Given the description of an element on the screen output the (x, y) to click on. 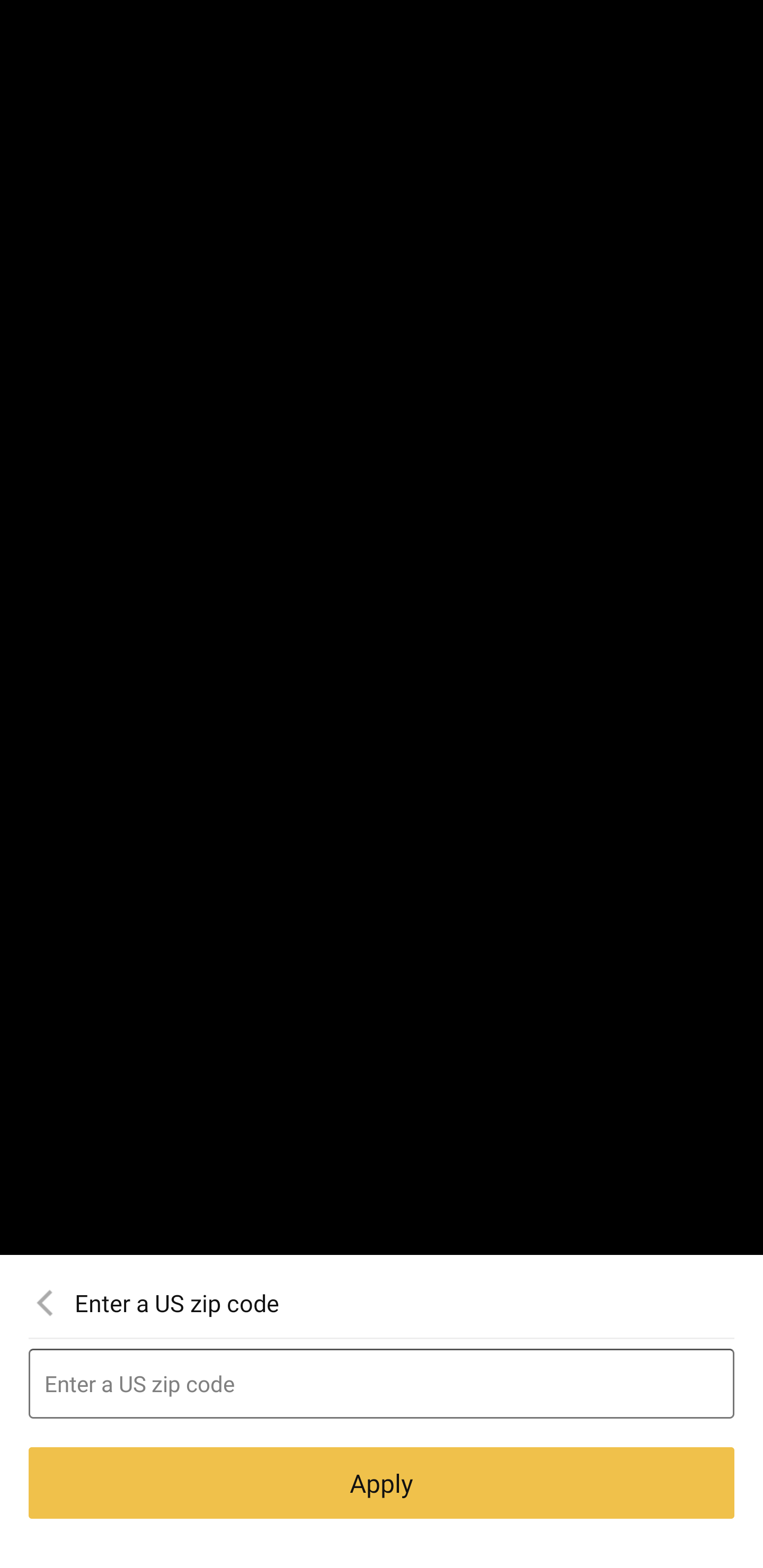
Enter a US zip code (381, 1383)
Apply (381, 1483)
